Given the description of an element on the screen output the (x, y) to click on. 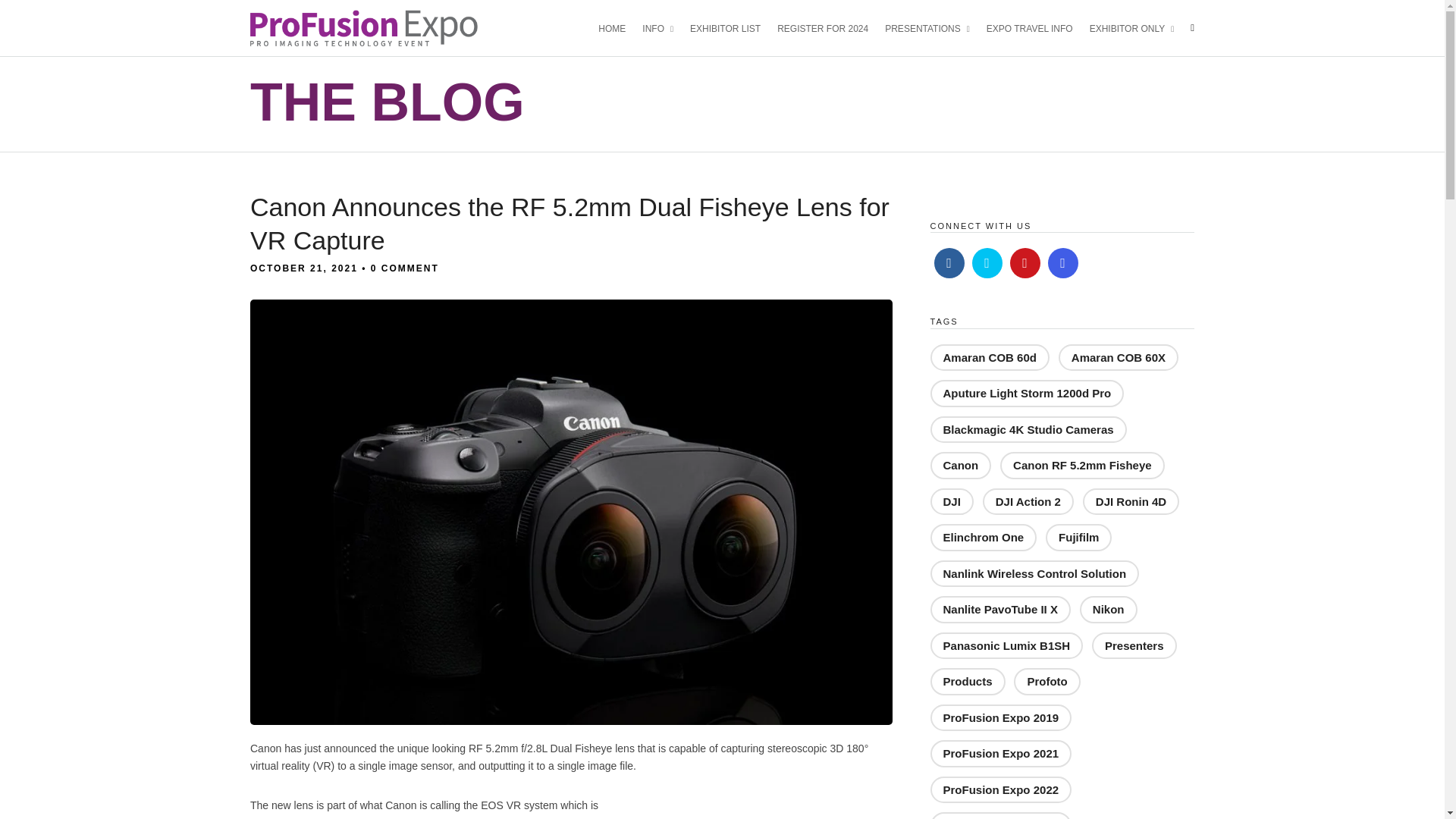
INFO (663, 27)
EXPO TRAVEL INFO (1036, 27)
Youtube (1025, 263)
HOME (618, 27)
EXHIBITOR LIST (731, 27)
REGISTER FOR 2024 (828, 27)
PRESENTATIONS (933, 27)
Twitter (987, 263)
EXHIBITOR ONLY (1138, 27)
Instagram (1063, 263)
